Given the description of an element on the screen output the (x, y) to click on. 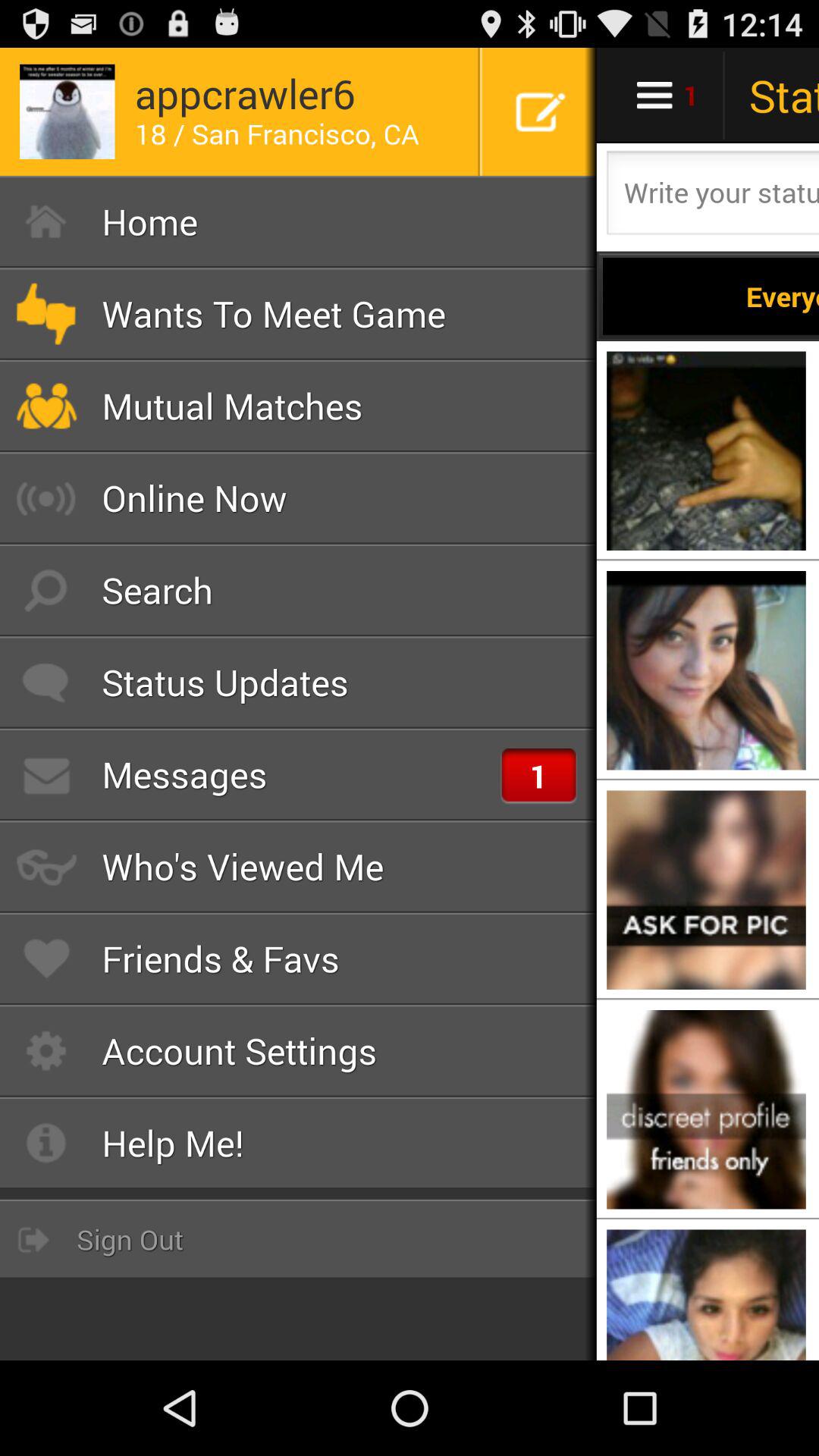
open the wants to meet (298, 313)
